Given the description of an element on the screen output the (x, y) to click on. 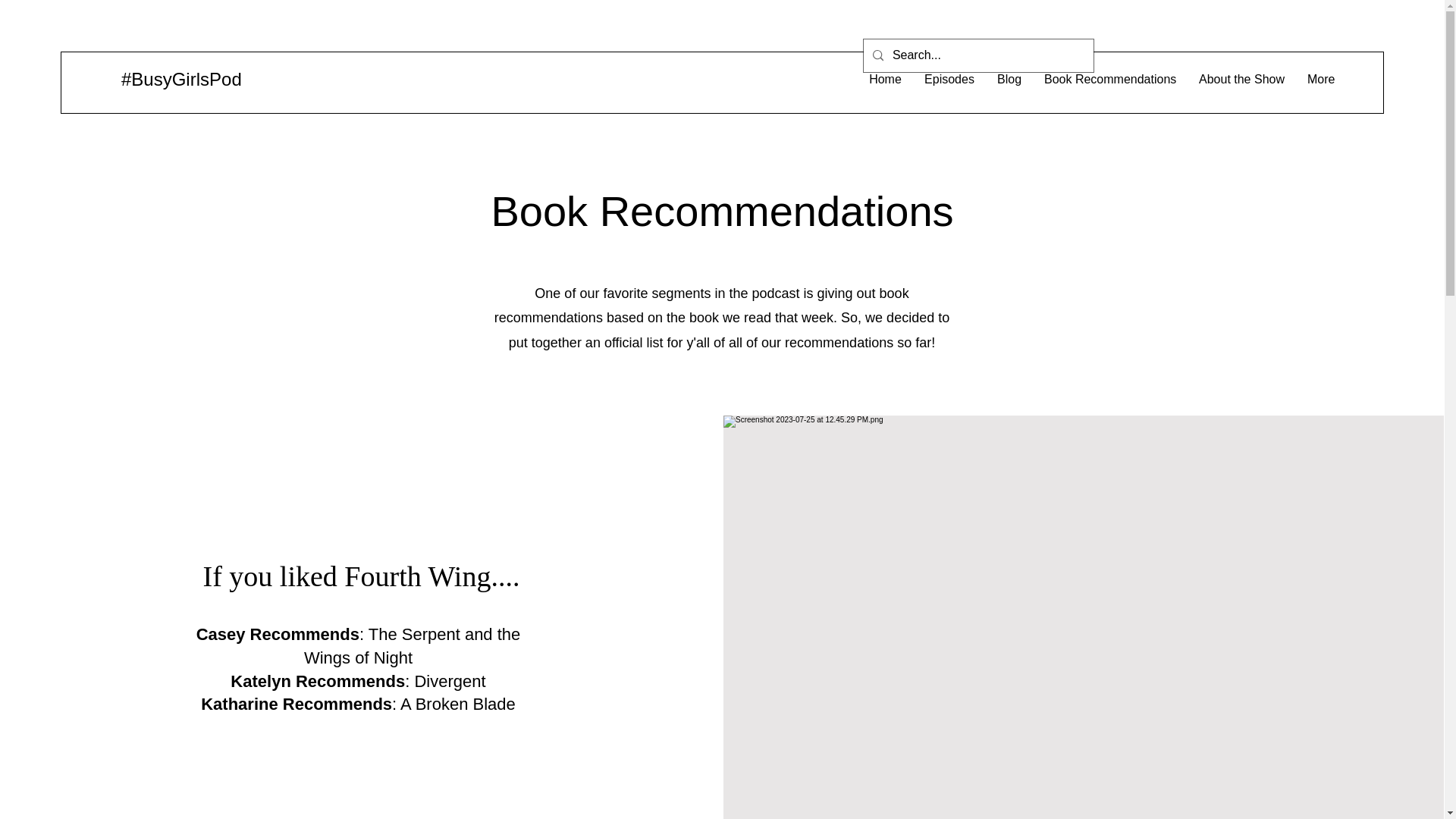
Book Recommendations (1110, 79)
Blog (1008, 79)
Episodes (948, 79)
About the Show (1241, 79)
Log In (1043, 57)
Home (884, 79)
